Given the description of an element on the screen output the (x, y) to click on. 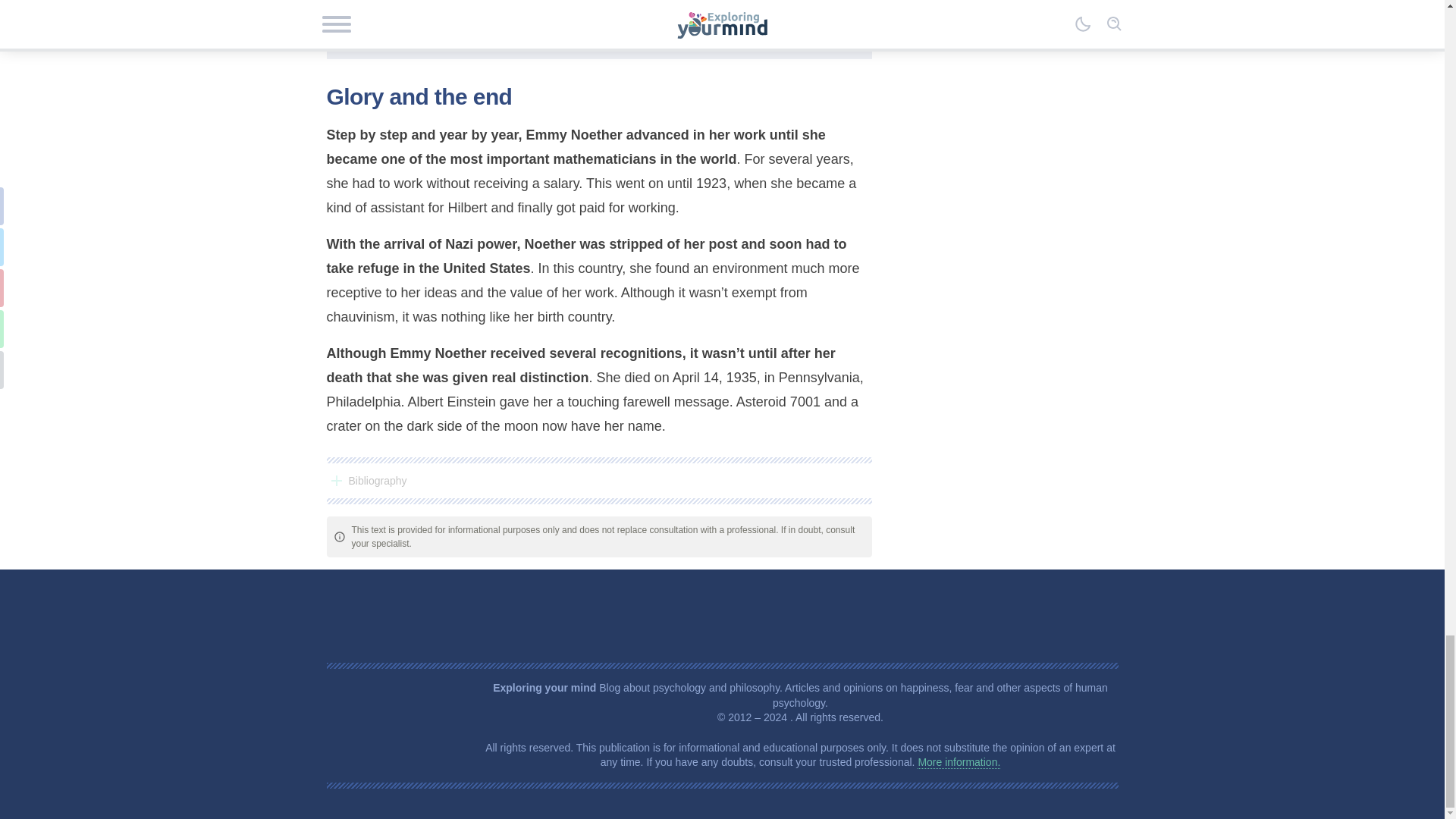
Bibliography (598, 480)
More information. (958, 762)
